Given the description of an element on the screen output the (x, y) to click on. 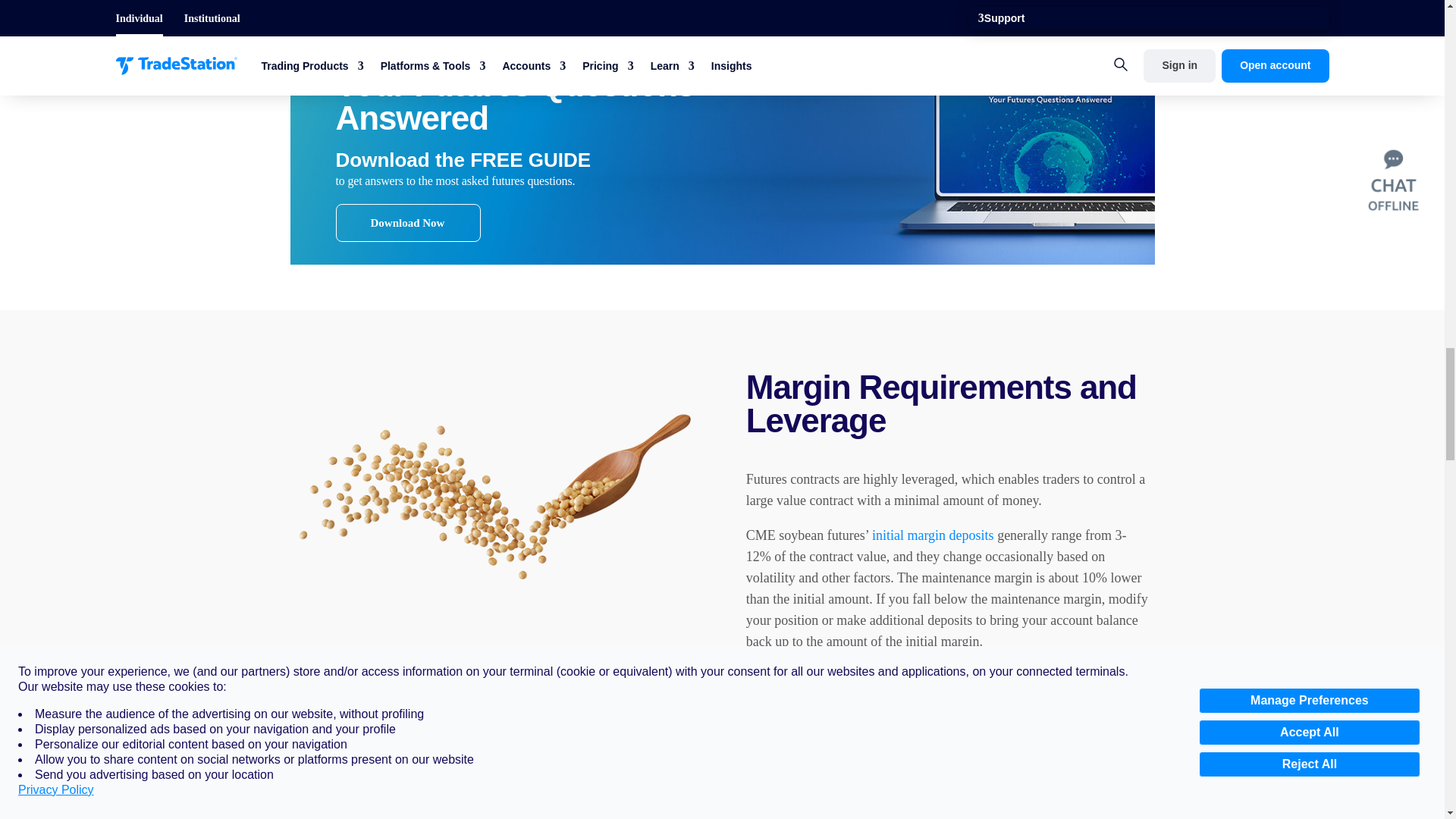
Soy (493, 497)
